Given the description of an element on the screen output the (x, y) to click on. 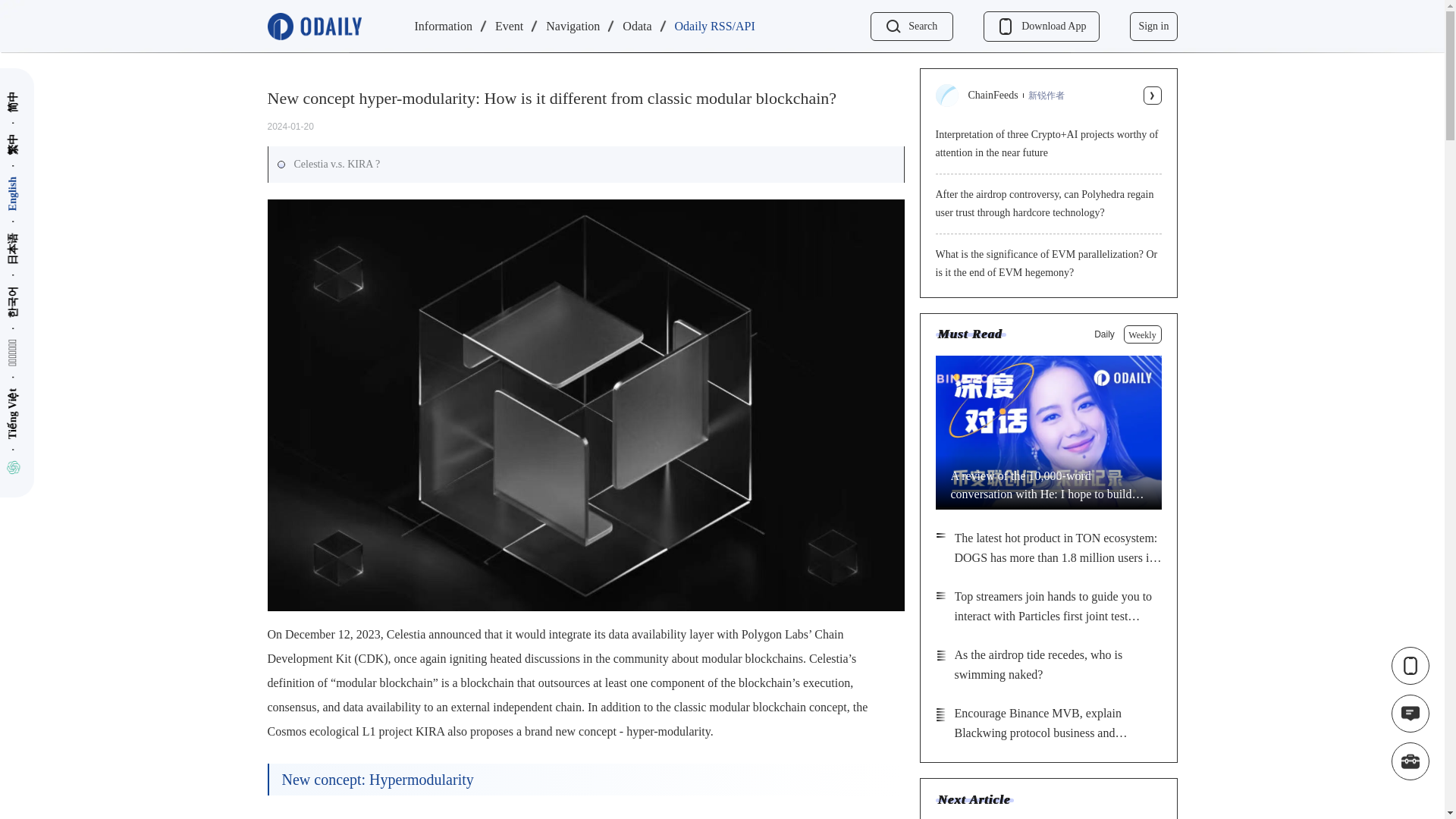
Navigation (572, 26)
Information (442, 26)
